Given the description of an element on the screen output the (x, y) to click on. 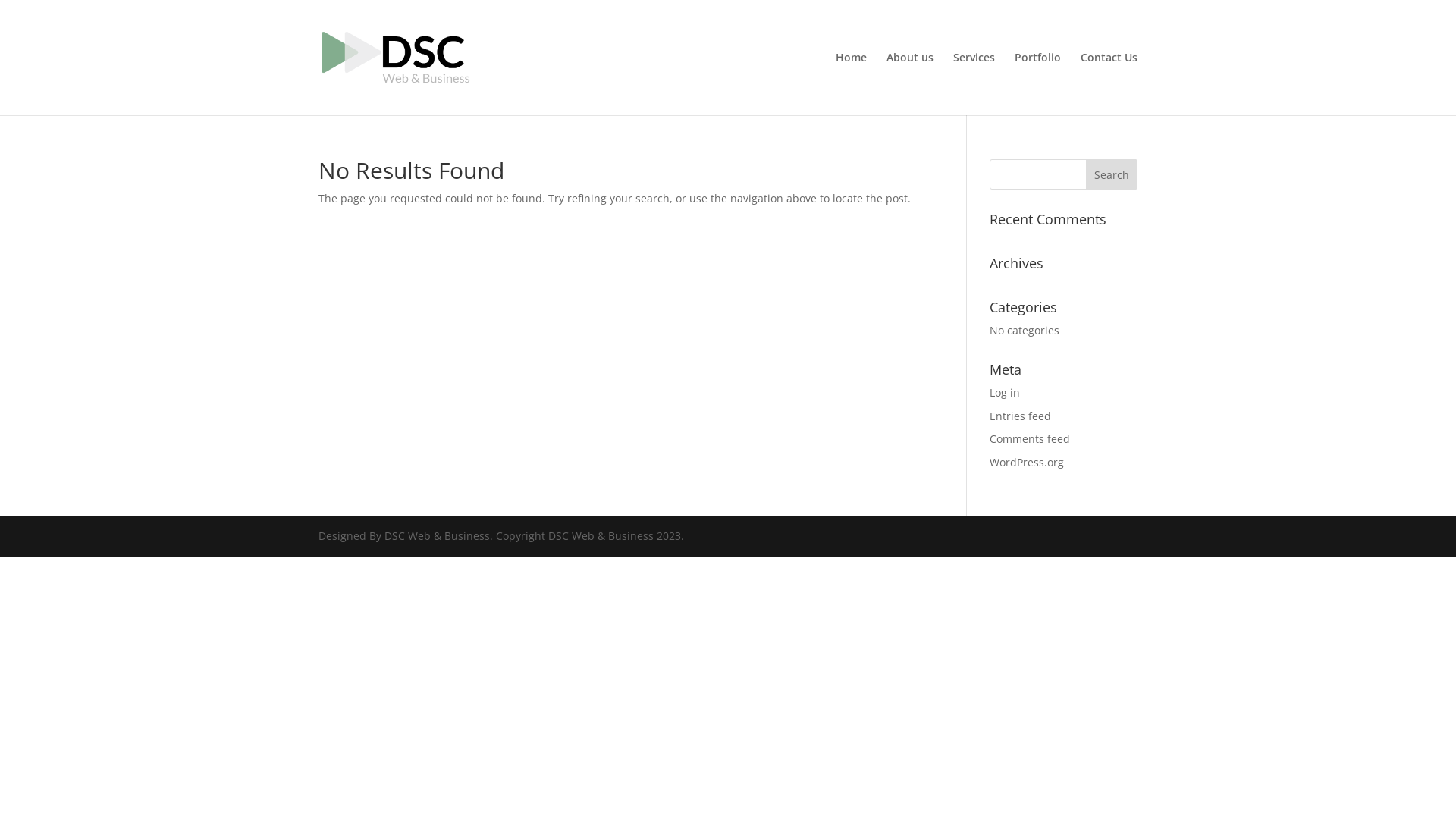
WordPress.org Element type: text (1026, 462)
Entries feed Element type: text (1020, 415)
Home Element type: text (850, 83)
Comments feed Element type: text (1029, 438)
Log in Element type: text (1004, 392)
Search Element type: text (1111, 174)
Services Element type: text (973, 83)
Contact Us Element type: text (1108, 83)
About us Element type: text (909, 83)
Portfolio Element type: text (1037, 83)
